Given the description of an element on the screen output the (x, y) to click on. 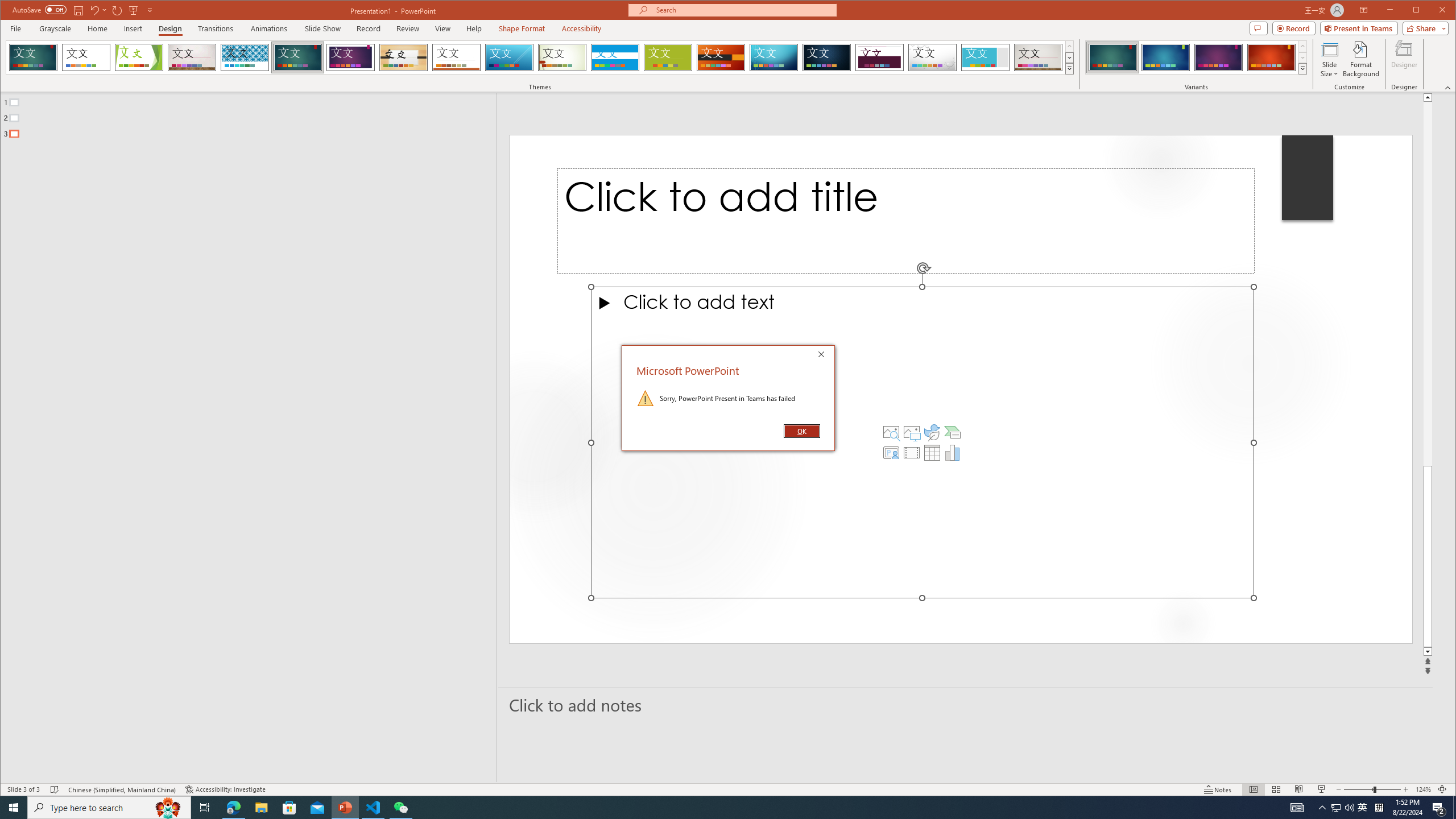
Title TextBox (906, 220)
Organic (403, 57)
Warning Icon (645, 398)
Retrospect (456, 57)
Gallery (1037, 57)
Shape Format (521, 28)
Visual Studio Code - 1 running window (373, 807)
